Given the description of an element on the screen output the (x, y) to click on. 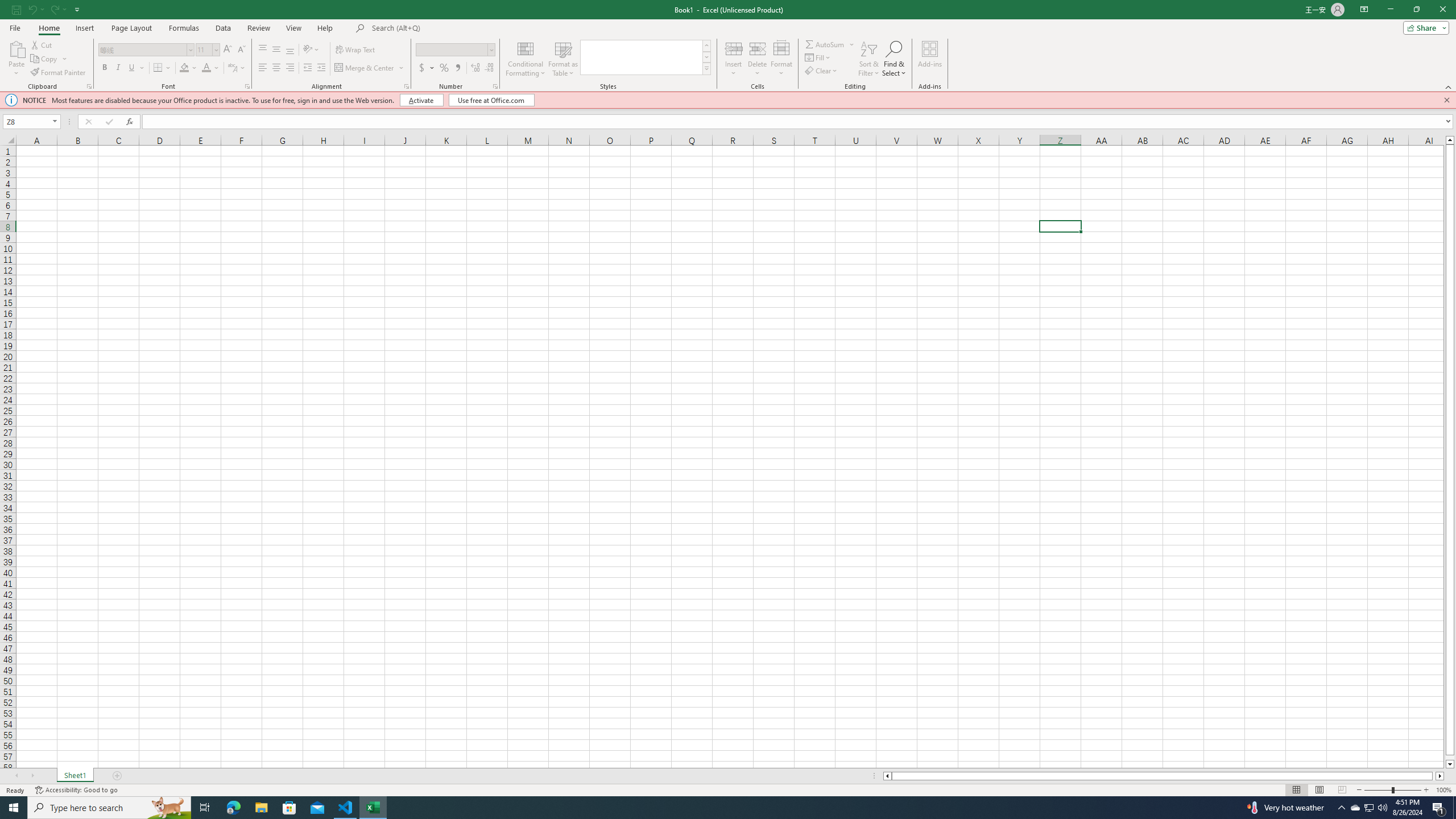
Cell Styles (705, 68)
Format Cell Alignment (405, 85)
Increase Indent (320, 67)
Increase Font Size (227, 49)
Paste (16, 58)
Percent Style (443, 67)
Decrease Font Size (240, 49)
Format (781, 58)
Accounting Number Format (426, 67)
Middle Align (276, 49)
